Given the description of an element on the screen output the (x, y) to click on. 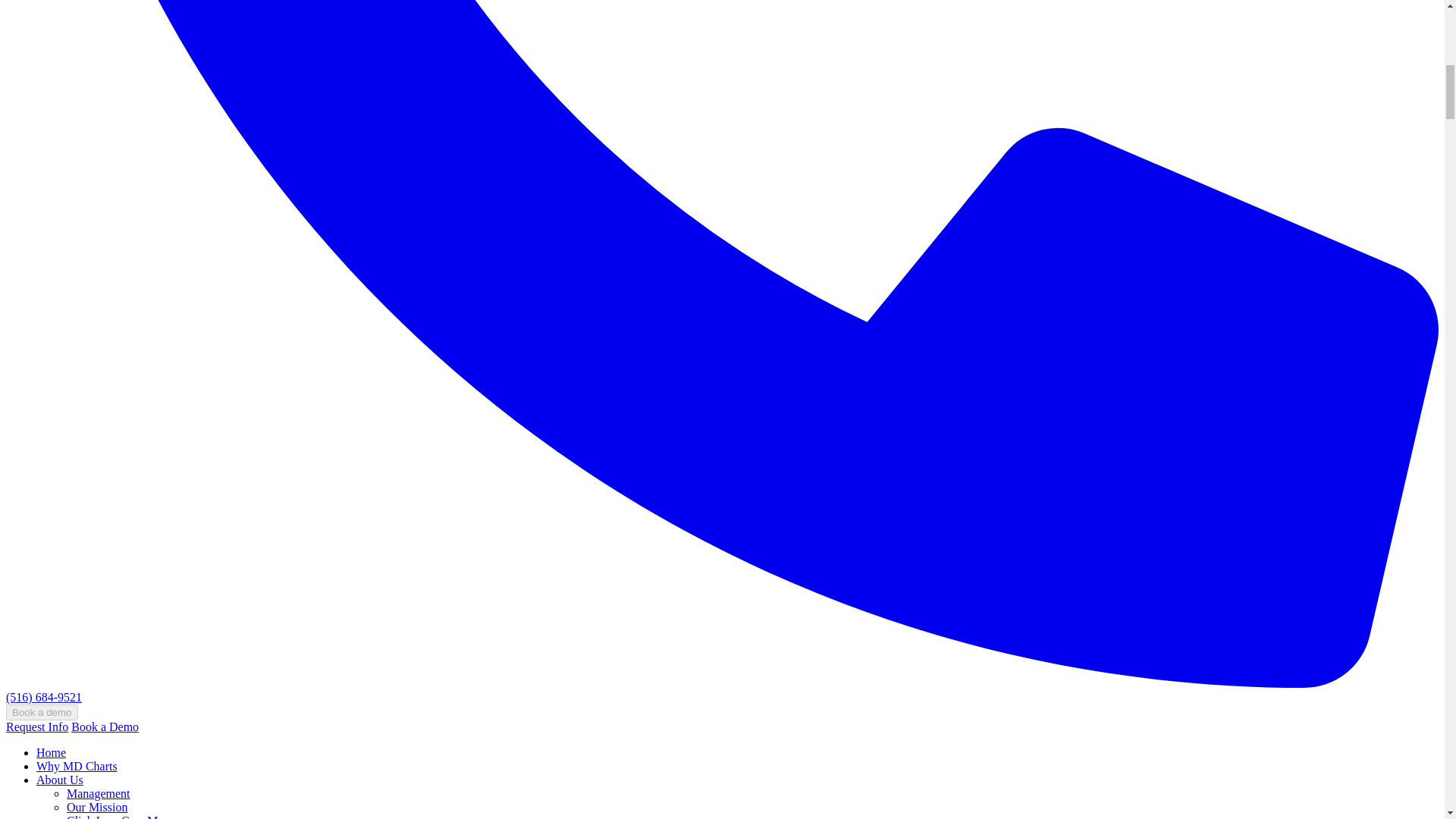
Book a Demo (104, 726)
Click Less Care More (119, 816)
Request Info (36, 726)
Management (98, 793)
Book a demo (41, 712)
Home (50, 752)
About Us (59, 779)
Why MD Charts (76, 766)
Our Mission (97, 807)
